Given the description of an element on the screen output the (x, y) to click on. 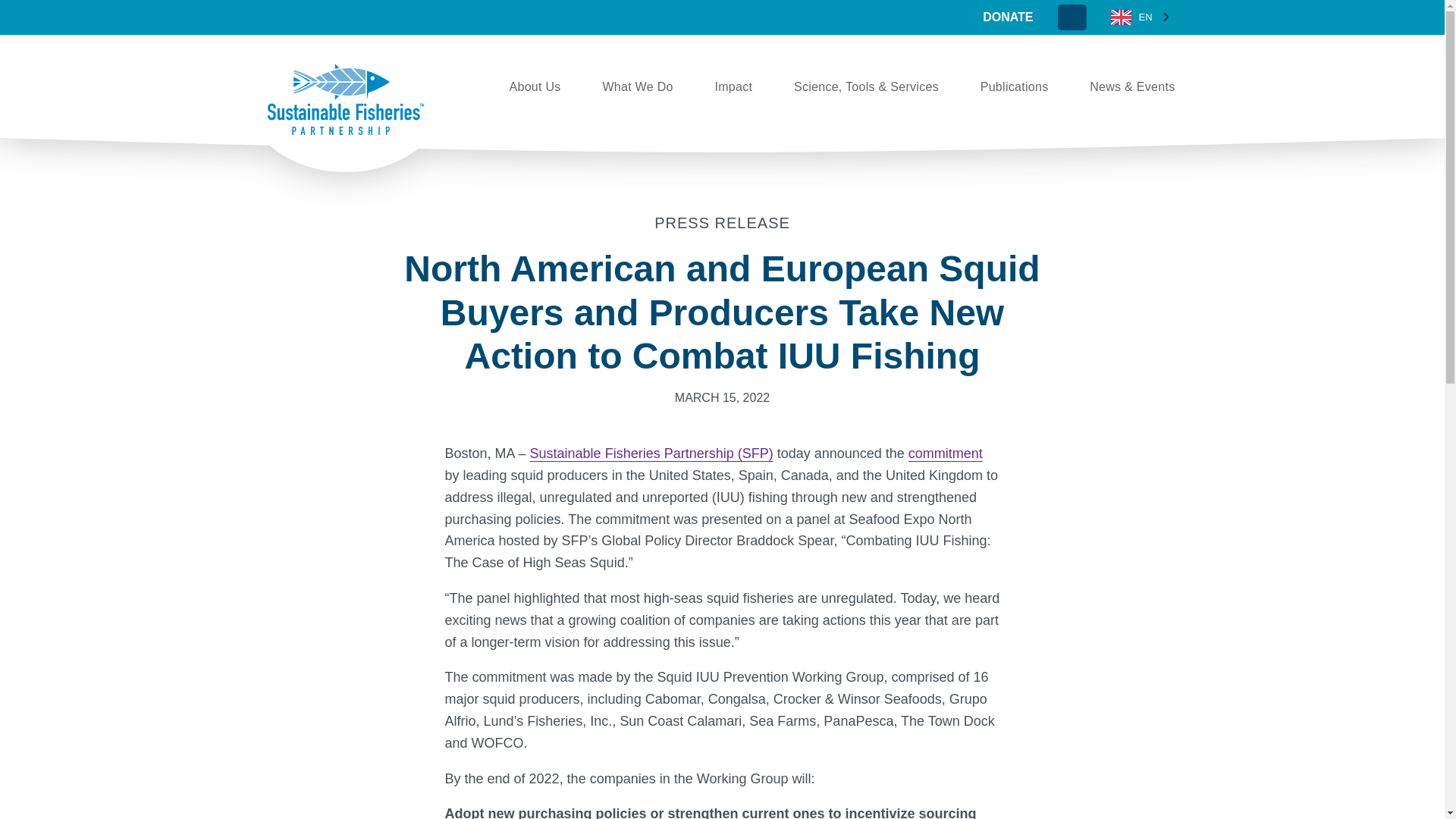
What We Do (637, 86)
